Given the description of an element on the screen output the (x, y) to click on. 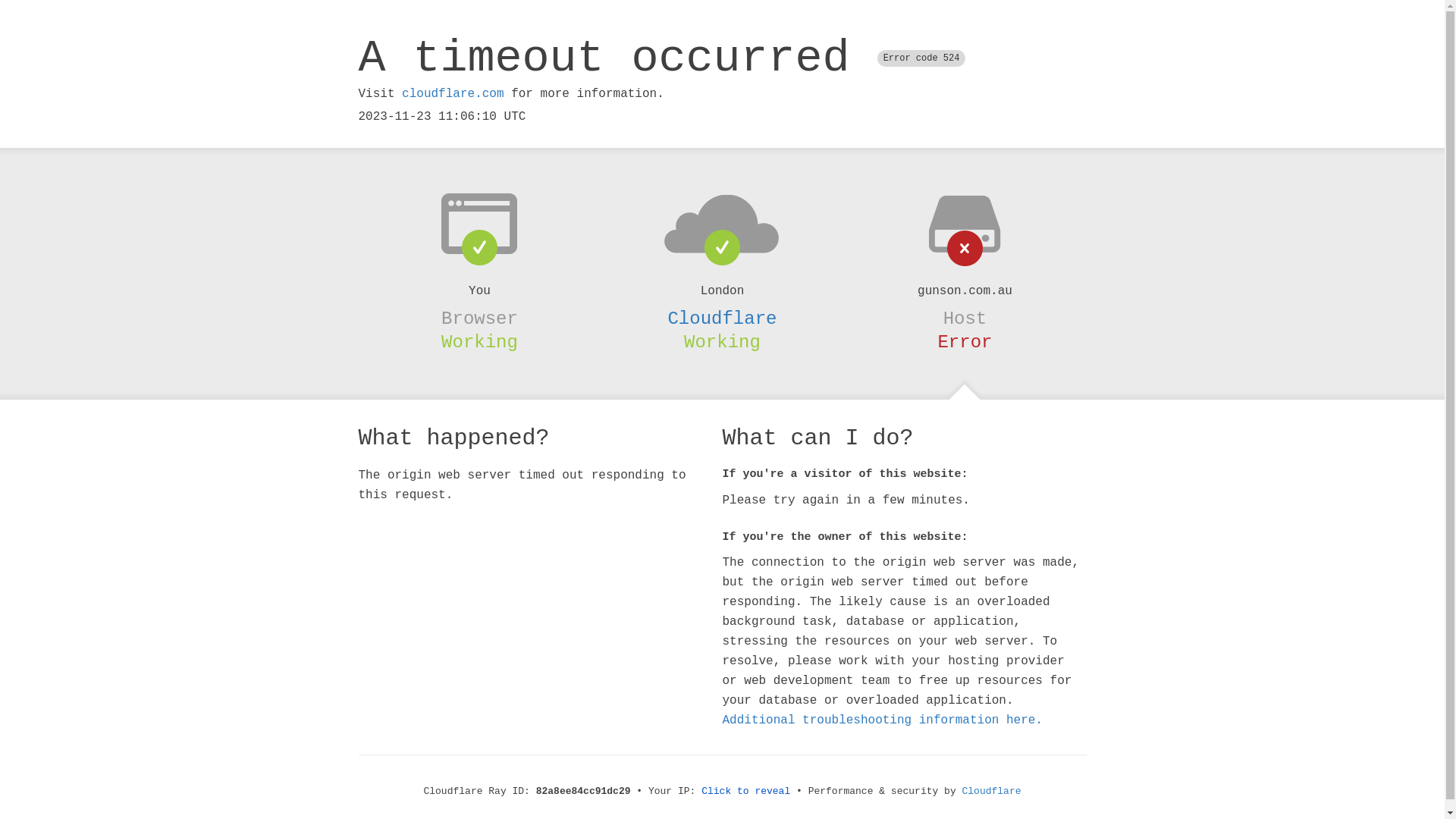
Cloudflare Element type: text (991, 791)
cloudflare.com Element type: text (452, 93)
Click to reveal Element type: text (745, 791)
Cloudflare Element type: text (721, 318)
Additional troubleshooting information here. Element type: text (881, 720)
